Given the description of an element on the screen output the (x, y) to click on. 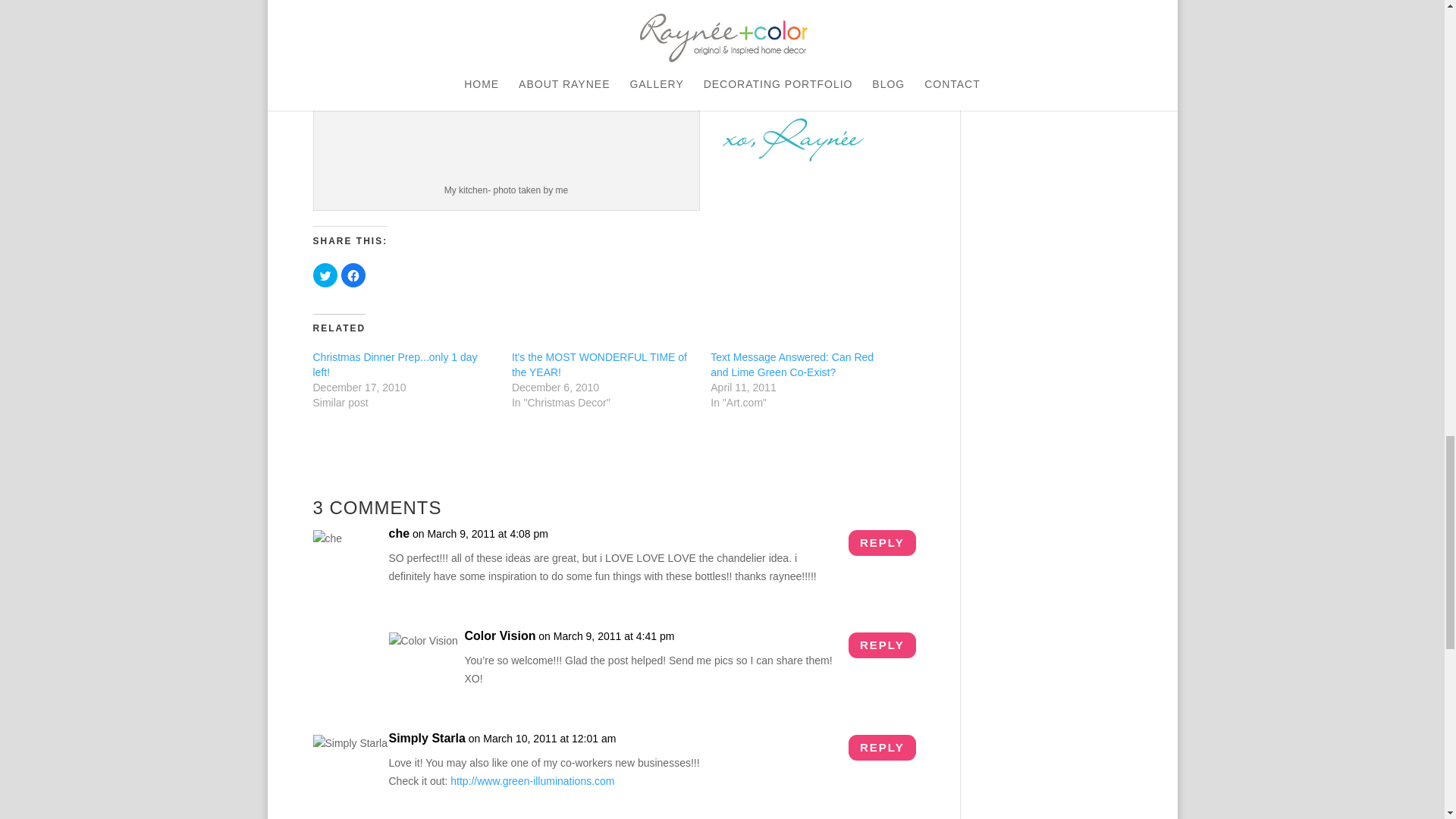
Pier1 (378, 5)
Simply Starla (426, 738)
REPLY (881, 542)
Click to share on Twitter (324, 274)
It's the MOST WONDERFUL TIME of the YEAR! (599, 364)
REPLY (881, 747)
Text Message Answered: Can Red and Lime Green Co-Exist? (791, 364)
Signature (792, 135)
It's the MOST WONDERFUL TIME of the YEAR! (599, 364)
Text Message Answered: Can Red and Lime Green Co-Exist? (791, 364)
Christmas Dinner Prep...only 1 day left! (395, 364)
Christmas Dinner Prep...only 1 day left! (395, 364)
REPLY (881, 645)
IMAG0816 (506, 108)
Click to share on Facebook (352, 274)
